Given the description of an element on the screen output the (x, y) to click on. 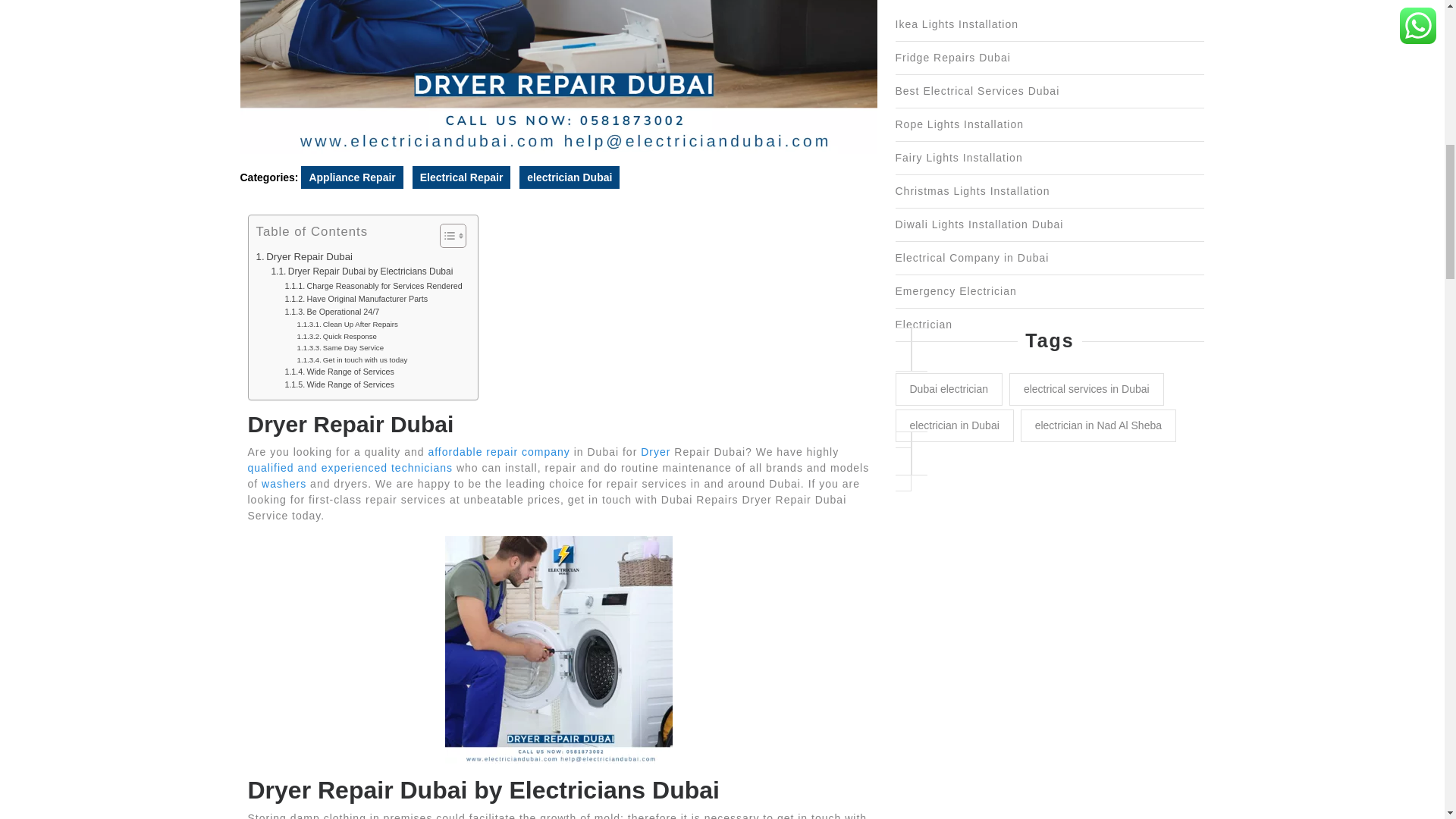
Quick Response (337, 336)
Wide Range of Services (338, 384)
Dryer Repair Dubai (304, 256)
Dryer Repair Dubai by Electricians Dubai (361, 271)
Wide Range of Services (338, 371)
Have Original Manufacturer Parts (355, 298)
Charge Reasonably for Services Rendered (372, 285)
Same Day Service (340, 347)
Get in touch with us today (352, 359)
Clean Up After Repairs (347, 324)
